Given the description of an element on the screen output the (x, y) to click on. 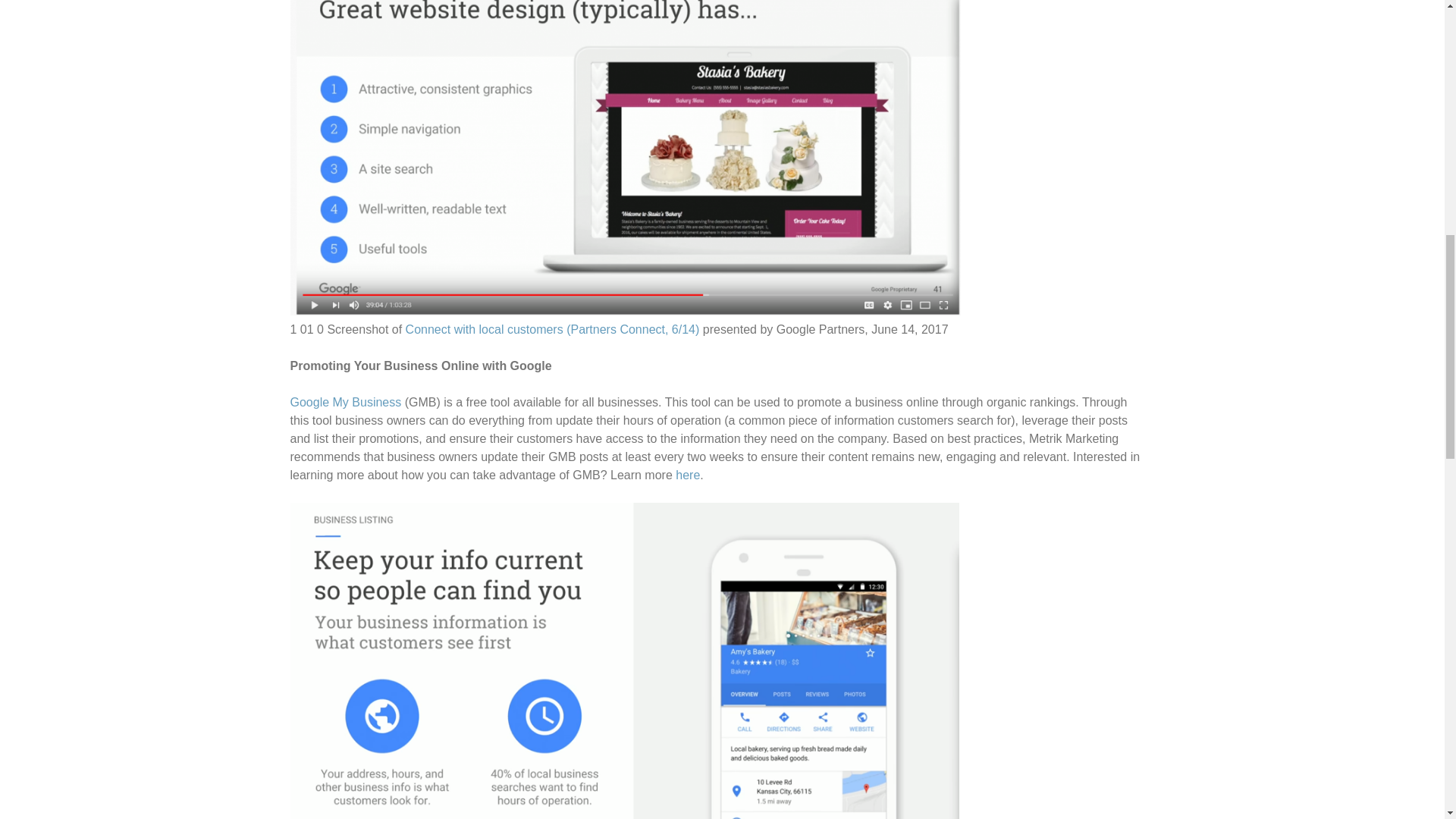
here (687, 474)
Google My Business (345, 401)
